Given the description of an element on the screen output the (x, y) to click on. 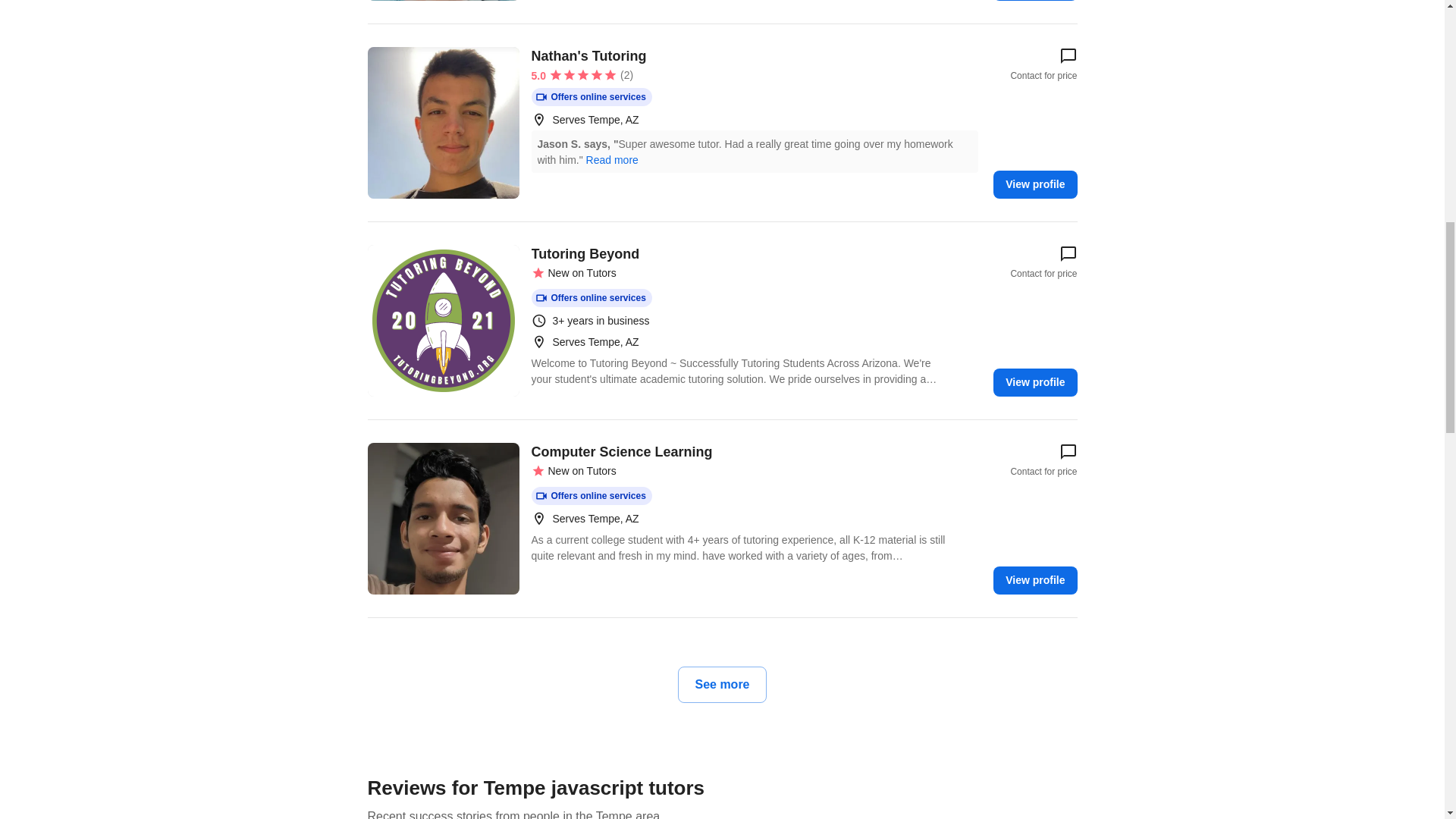
View profile (1034, 184)
View profile (1034, 382)
Contact for price (1043, 460)
See more (721, 684)
View profile (1034, 580)
Contact for price (1043, 63)
Connect with this tutor via an online session. (590, 298)
Nathan's Tutoring (442, 122)
Tutoring Beyond (442, 320)
Connect with this tutor via an online session. (590, 495)
Computer Science Learning (442, 518)
Contact for price (1043, 262)
Connect with this tutor via an online session. (590, 96)
